Given the description of an element on the screen output the (x, y) to click on. 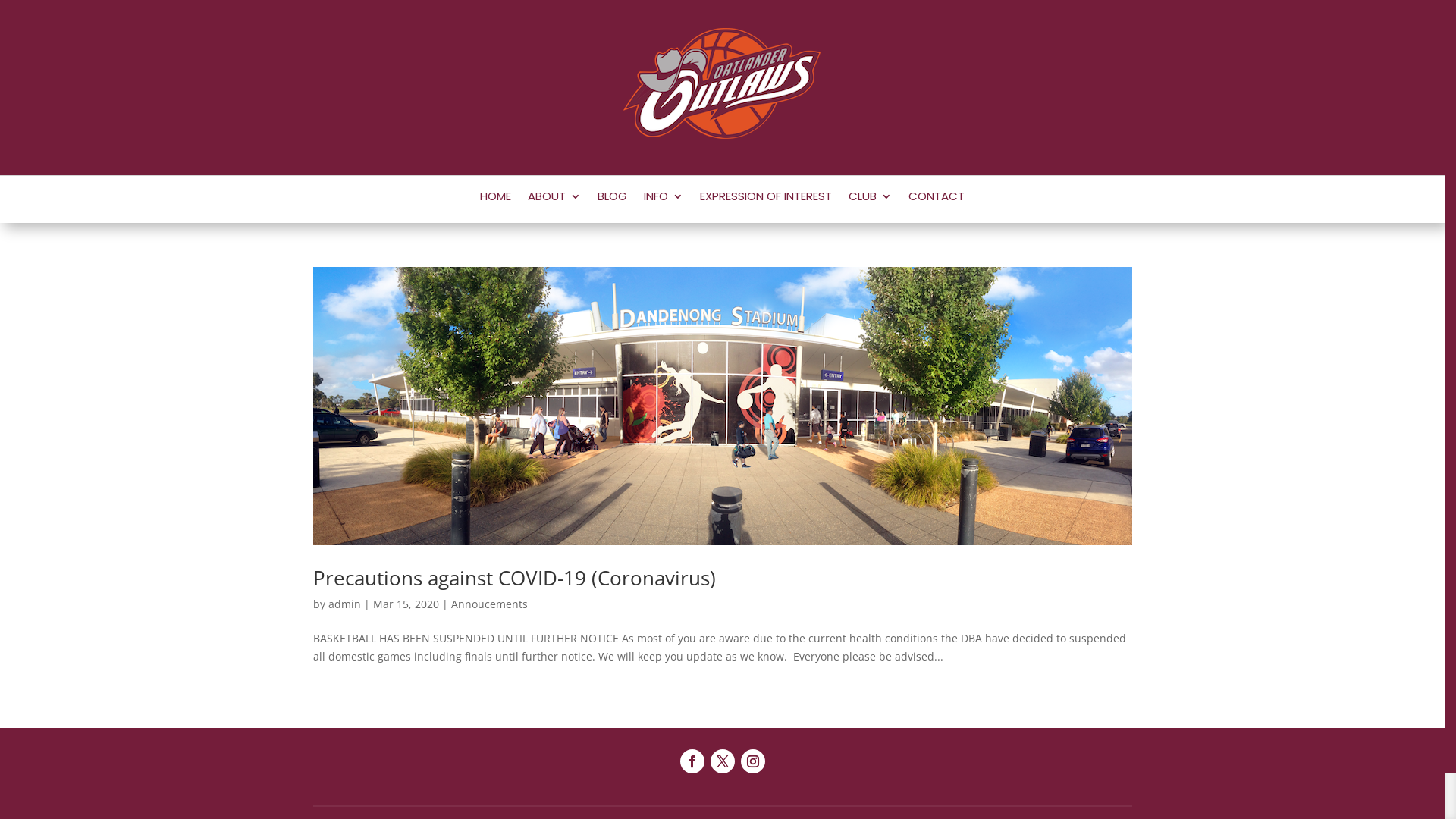
Follow on X Element type: hover (721, 761)
Follow on Facebook Element type: hover (691, 761)
EXPRESSION OF INTEREST Element type: text (765, 199)
admin Element type: text (343, 603)
Follow on Instagram Element type: hover (752, 761)
CLUB Element type: text (869, 199)
ABOUT Element type: text (553, 199)
Precautions against COVID-19 (Coronavirus) Element type: text (513, 577)
INFO Element type: text (663, 199)
HOME Element type: text (495, 199)
CONTACT Element type: text (936, 199)
Annoucements Element type: text (488, 603)
BLOG Element type: text (612, 199)
